Given the description of an element on the screen output the (x, y) to click on. 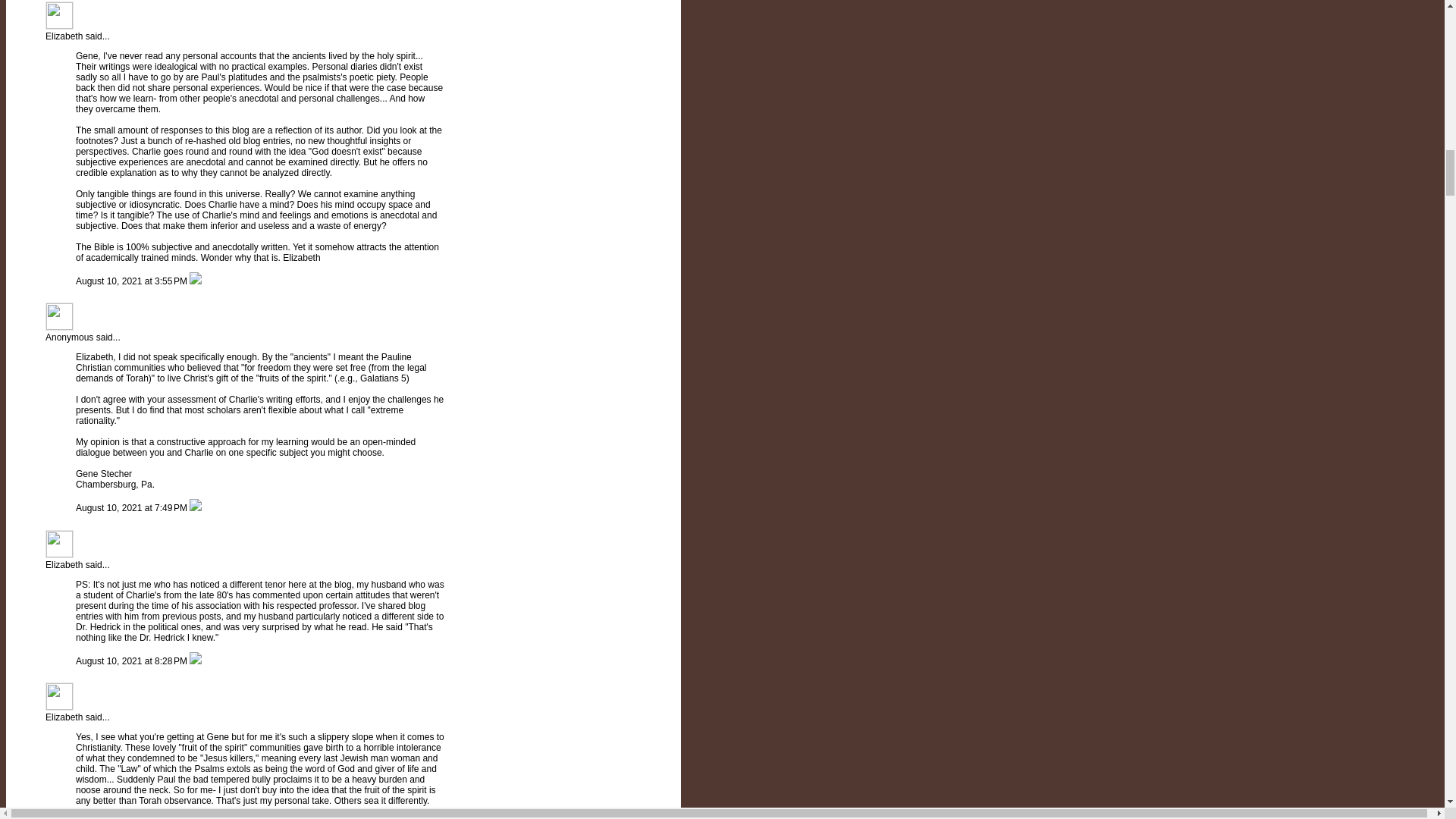
Delete Comment (195, 507)
Elizabeth (63, 564)
Delete Comment (195, 281)
Elizabeth (63, 716)
comment permalink (132, 507)
Anonymous (59, 316)
Elizabeth (63, 36)
Elizabeth (59, 543)
comment permalink (132, 281)
Elizabeth (59, 15)
